Given the description of an element on the screen output the (x, y) to click on. 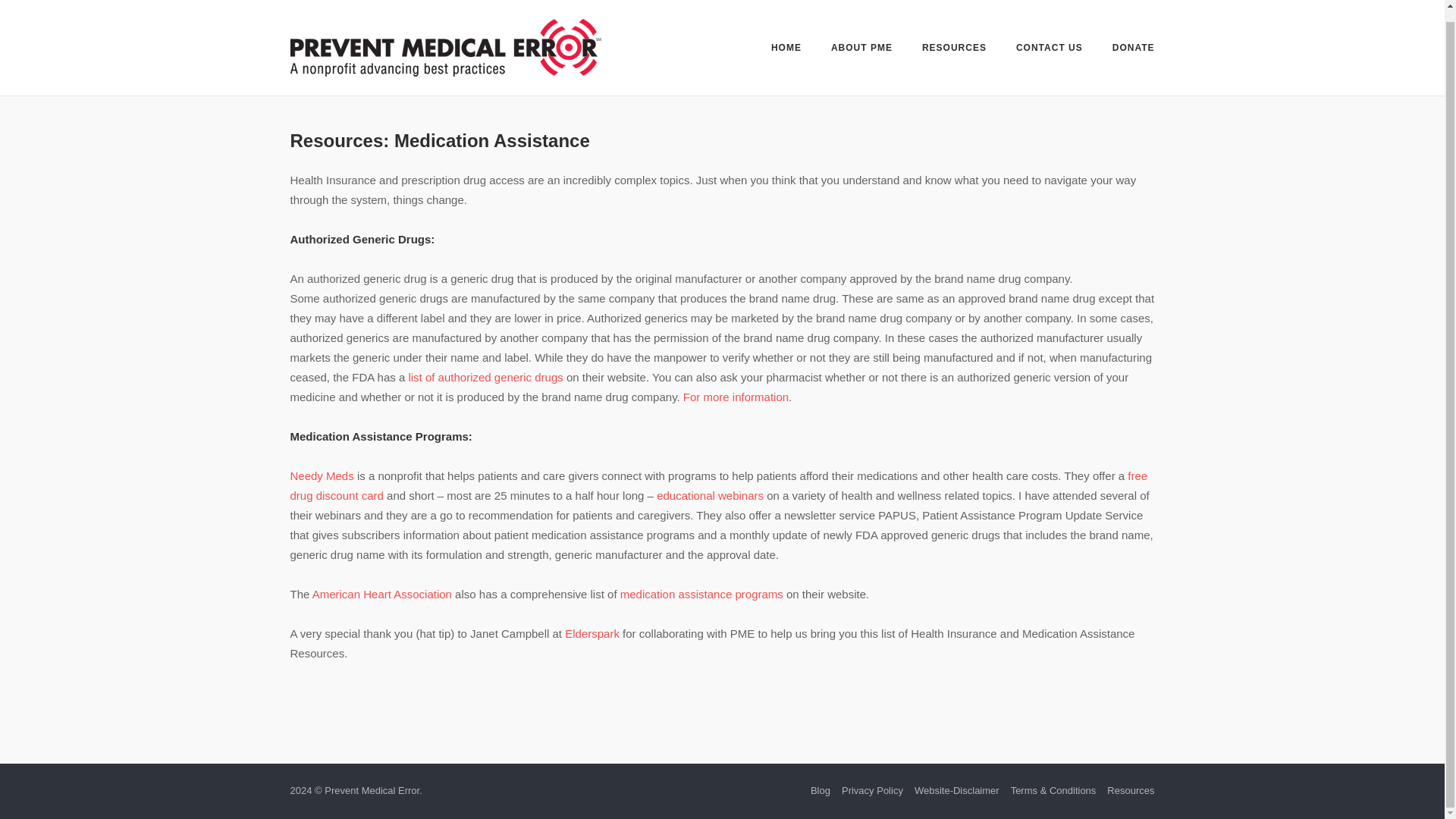
Resources (1130, 790)
educational webinars (709, 495)
medication assistance programs (703, 594)
DONATE (1133, 38)
For more information (735, 396)
Blog (819, 790)
RESOURCES (954, 38)
Needy Meds (321, 475)
Website-Disclaimer (956, 790)
Elderspark (592, 633)
CONTACT US (1049, 38)
American Heart Association (382, 594)
HOME (786, 38)
ABOUT PME (861, 38)
list of authorized generic drugs (484, 377)
